Given the description of an element on the screen output the (x, y) to click on. 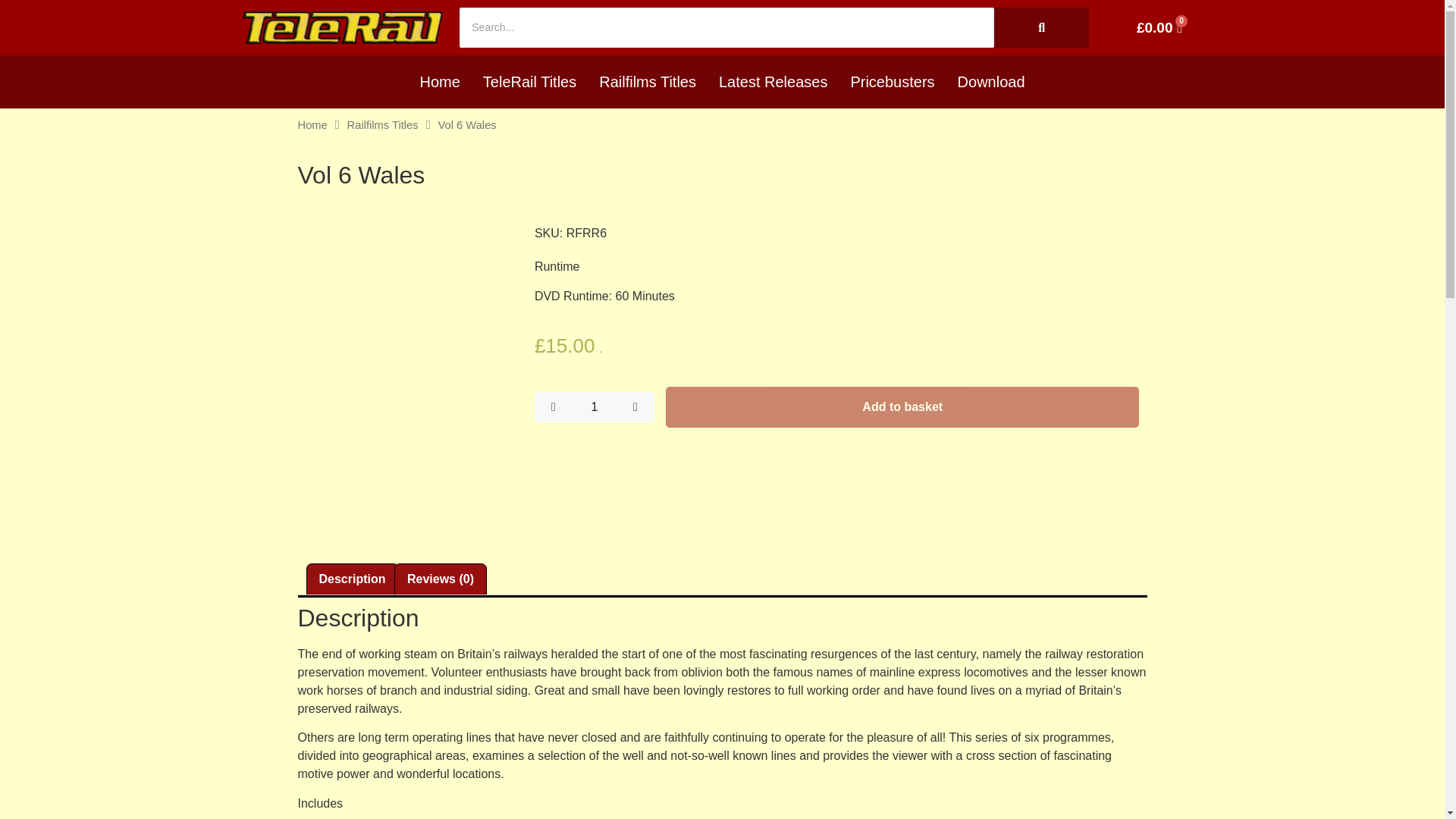
Download (991, 81)
Pricebusters (891, 81)
Railfilms Titles (383, 124)
Home (438, 81)
Description (351, 579)
Home (311, 124)
Latest Releases (772, 81)
Add to basket (902, 406)
TeleRail Titles (529, 81)
Search (727, 27)
1 (593, 407)
Railfilms Titles (647, 81)
